Given the description of an element on the screen output the (x, y) to click on. 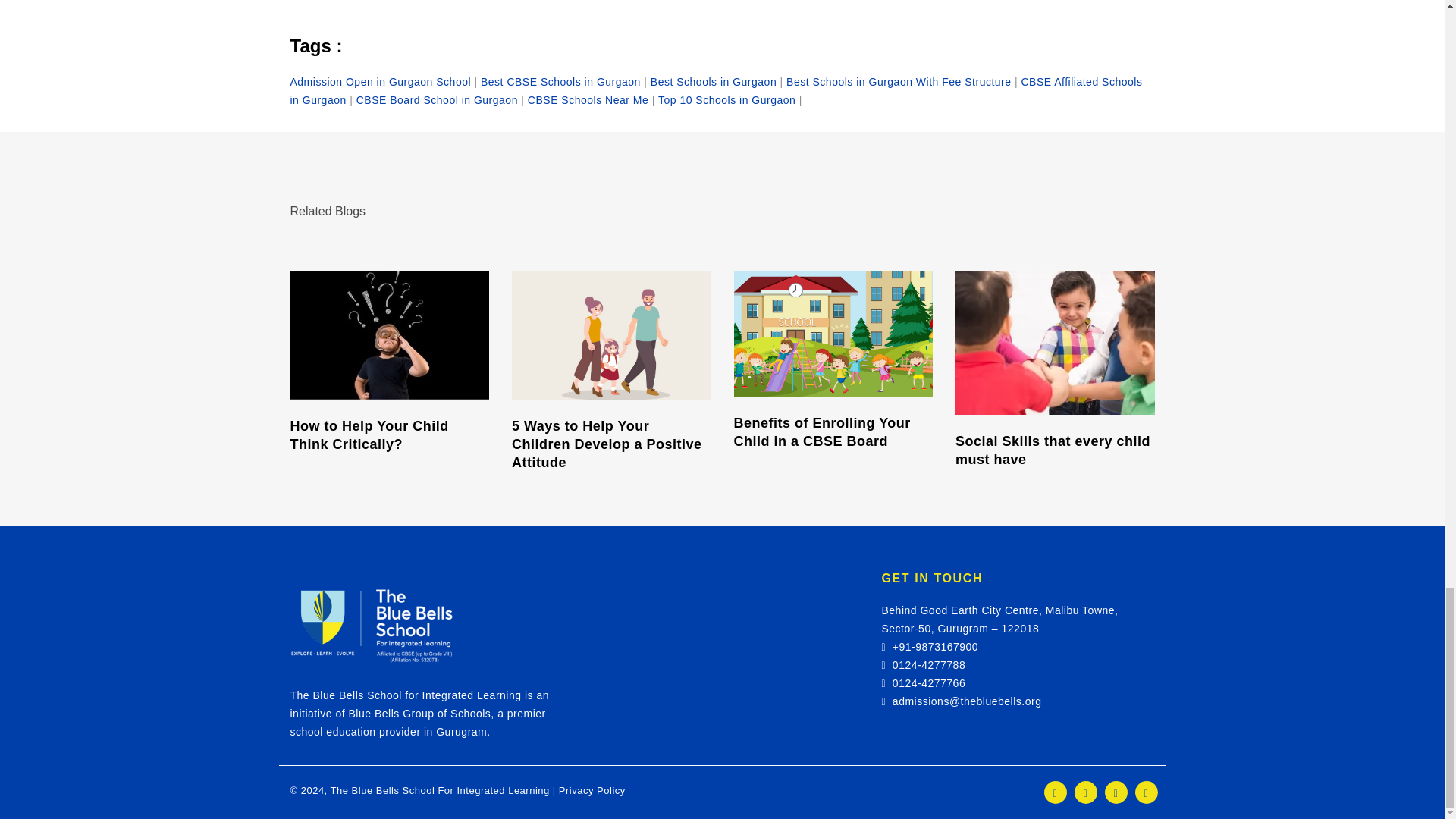
Teaching Kids About Good Touch and Bad Touch (1054, 342)
Teaching Kids About Good Touch and Bad Touch (611, 335)
Teaching Kids About Good Touch and Bad Touch (833, 333)
Teaching Kids About Good Touch and Bad Touch (373, 624)
Teaching Kids About Good Touch and Bad Touch (389, 335)
